Given the description of an element on the screen output the (x, y) to click on. 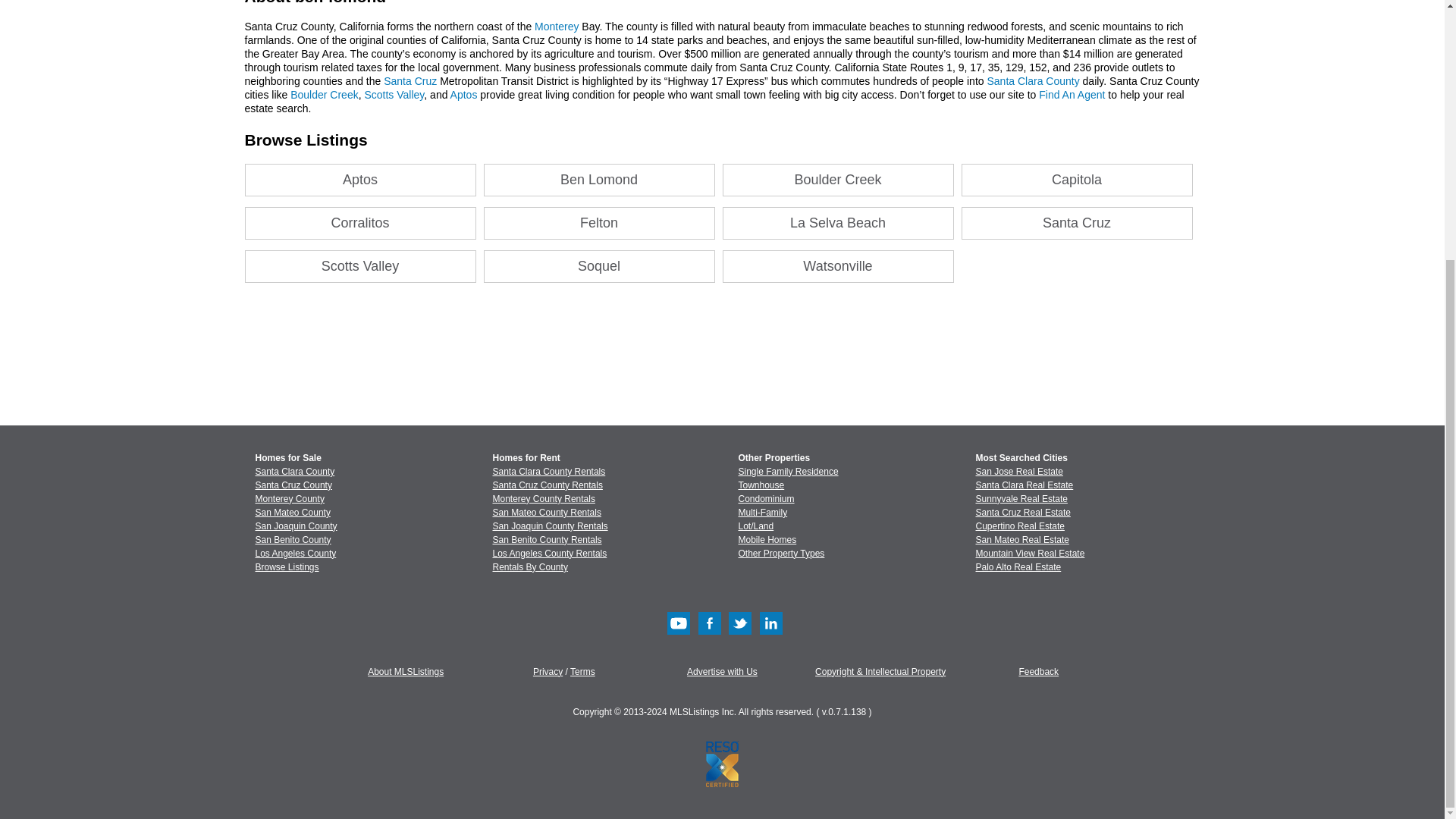
View Homes for Sale In San Mateo County (292, 511)
View Homes for Rent In Santa Clara County (549, 471)
View Homes for Sale In Monterey County (288, 498)
Browse Homes for Sale (286, 566)
View Homes for Sale In Santa Cruz County (292, 484)
View Homes for Sale In San Benito County (292, 539)
View Homes for Sale In Santa Clara County (294, 471)
View Homes for Sale In Los Angeles County (295, 552)
View Homes for Sale In San Joaquin County (295, 525)
